Given the description of an element on the screen output the (x, y) to click on. 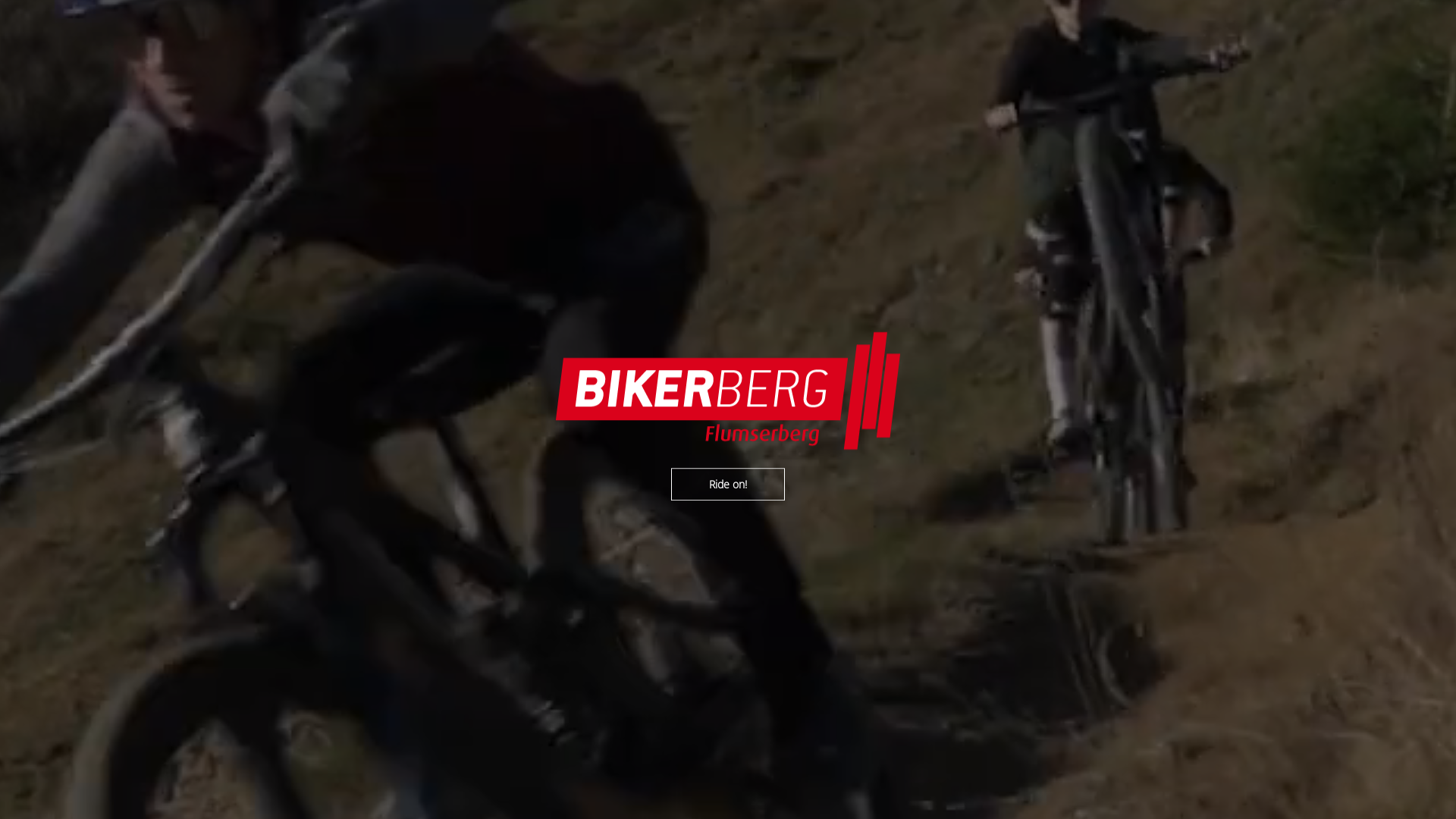
Ride on! Element type: text (727, 483)
